Given the description of an element on the screen output the (x, y) to click on. 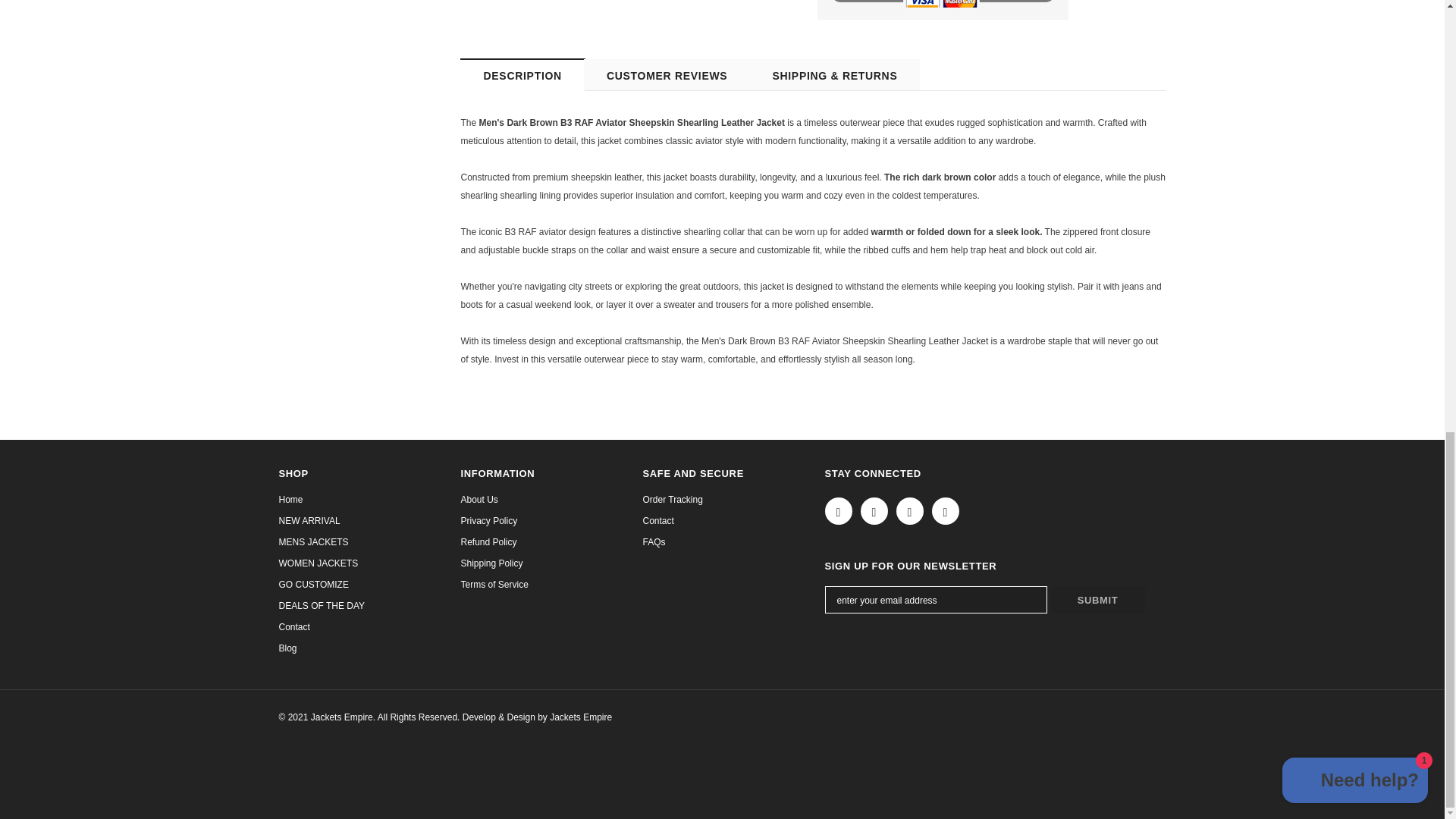
MENS JACKETS (314, 541)
NEW ARRIVAL (309, 520)
WOMEN JACKETS (318, 563)
Submit (1097, 599)
Home (290, 499)
